Given the description of an element on the screen output the (x, y) to click on. 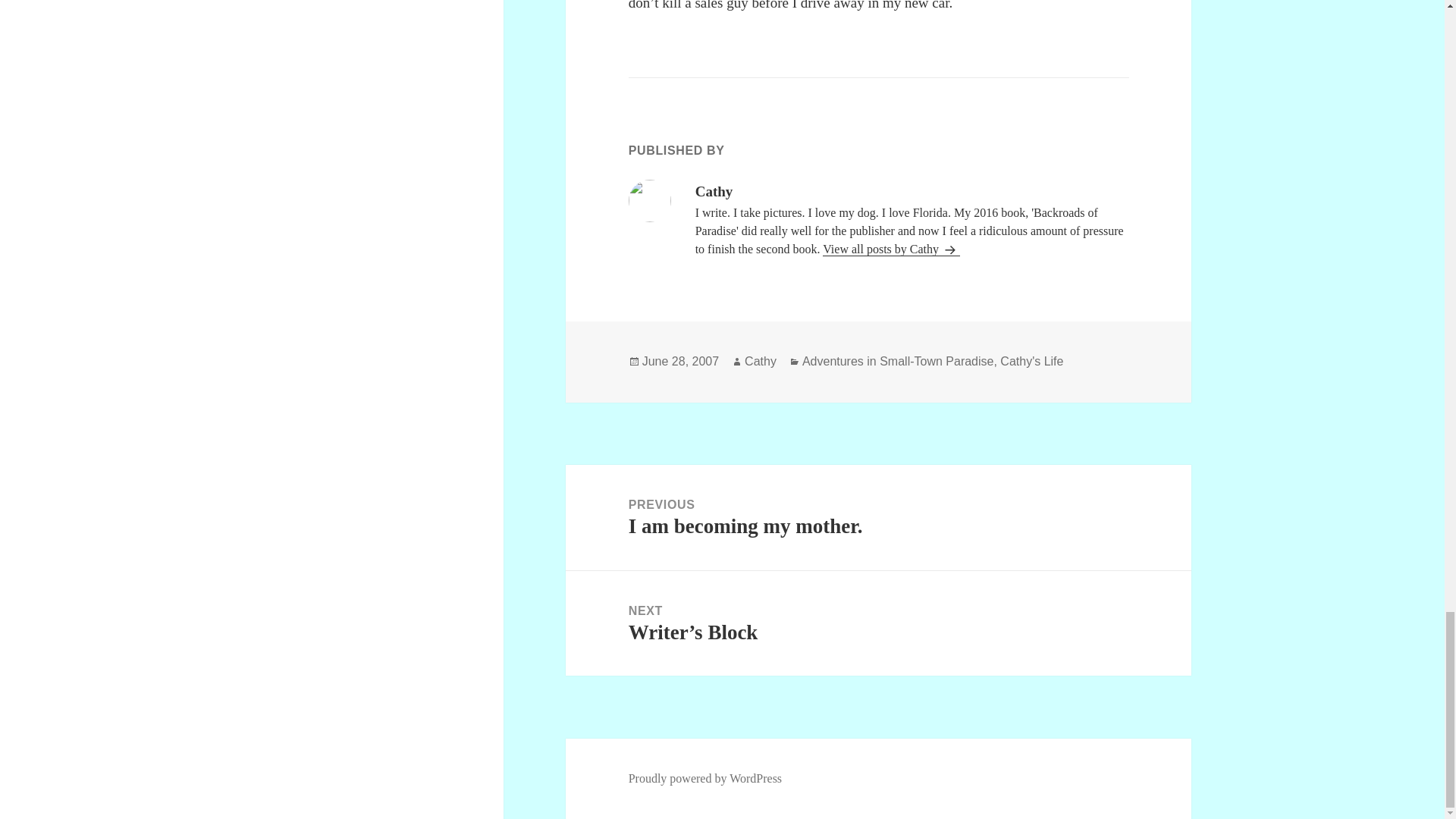
View all posts by Cathy (890, 249)
Adventures in Small-Town Paradise (878, 517)
Cathy's Life (898, 361)
June 28, 2007 (1031, 361)
Proudly powered by WordPress (680, 361)
Cathy (704, 778)
